Given the description of an element on the screen output the (x, y) to click on. 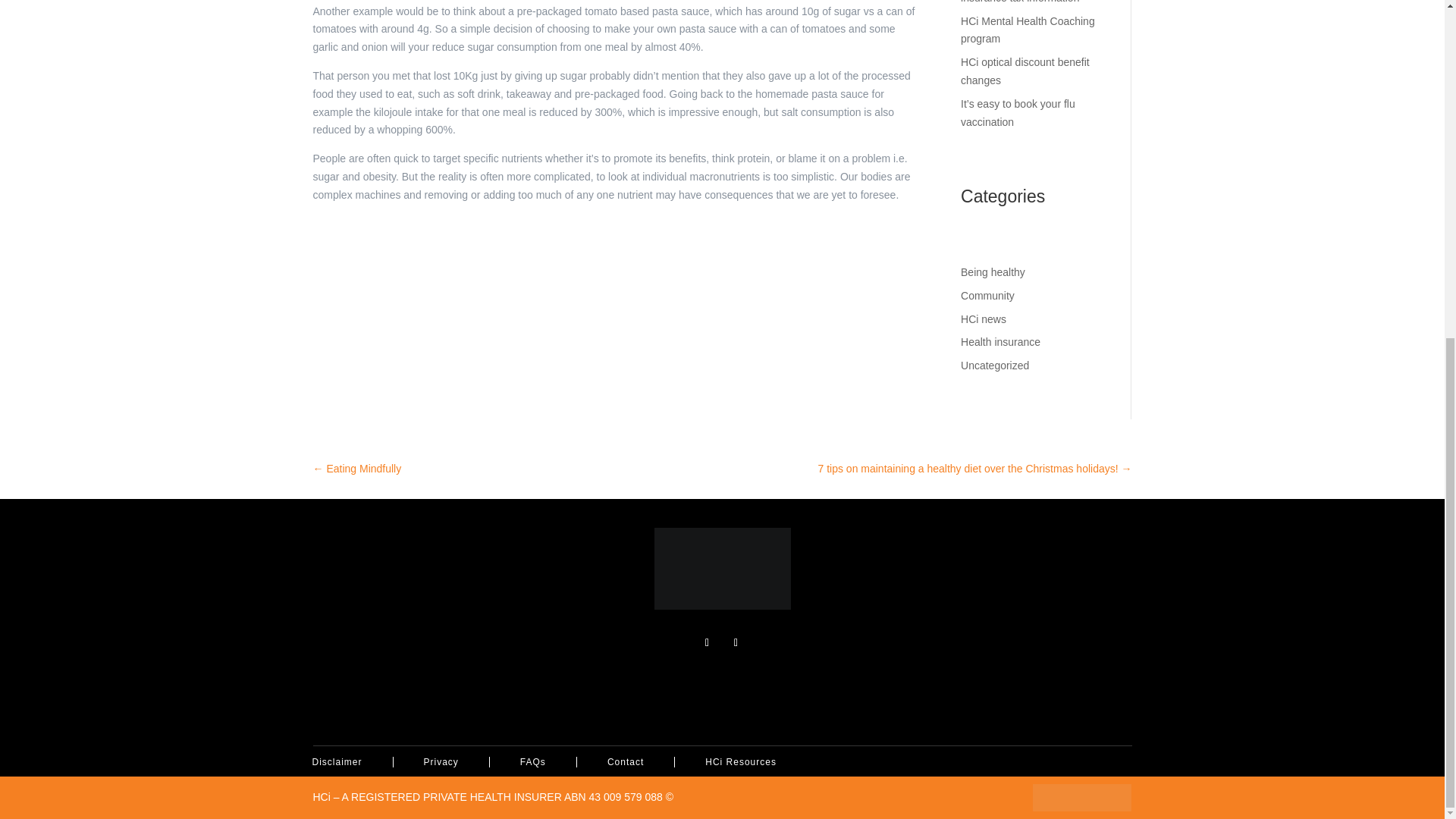
Follow on Facebook (707, 642)
Say Hi to HCi white (1081, 797)
Follow on Instagram (736, 642)
